Given the description of an element on the screen output the (x, y) to click on. 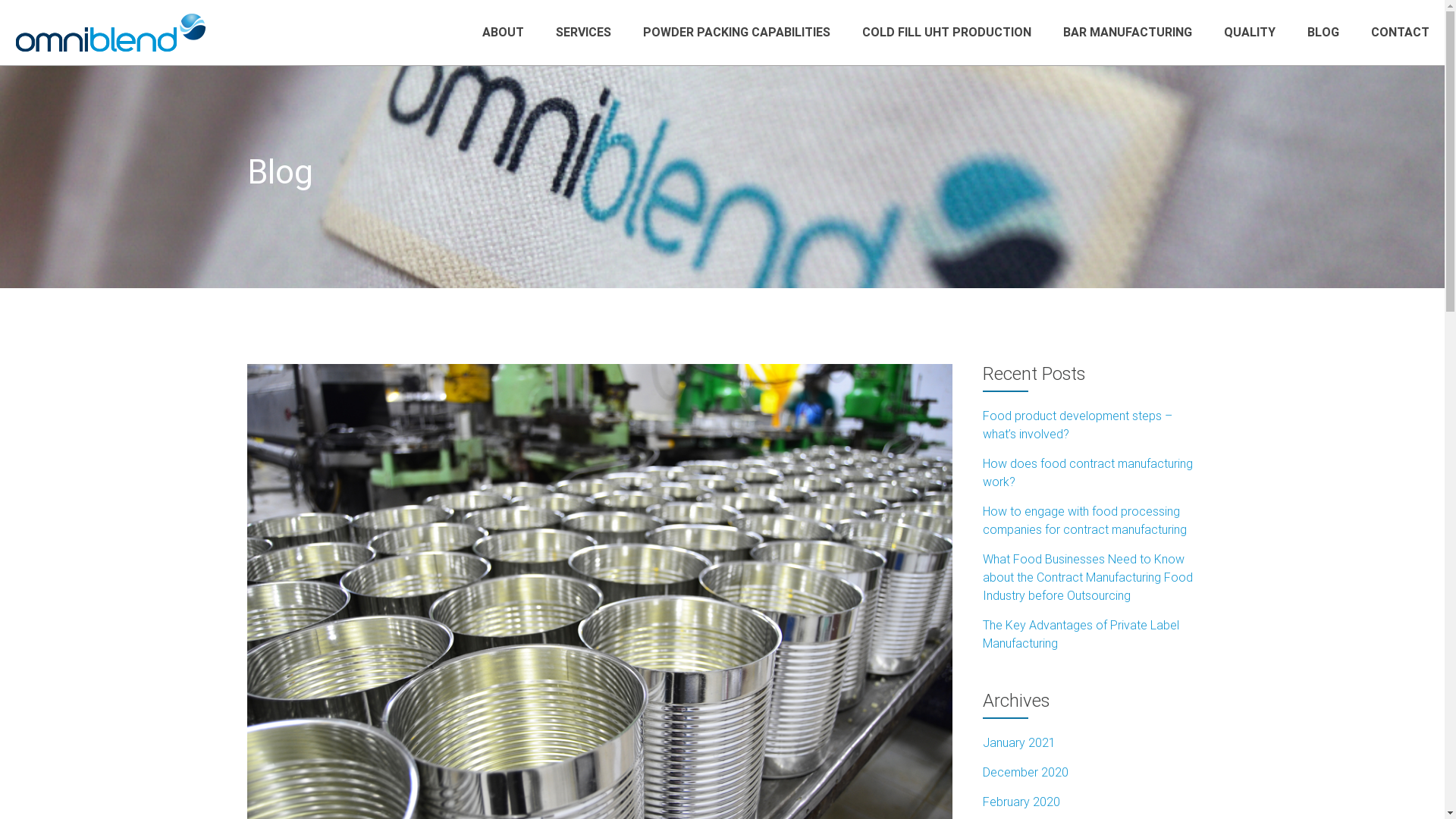
January 2021 Element type: text (1018, 742)
CONTACT Element type: text (1400, 32)
QUALITY Element type: text (1249, 32)
SERVICES Element type: text (583, 32)
How does food contract manufacturing work? Element type: text (1087, 472)
BAR MANUFACTURING Element type: text (1127, 32)
COLD FILL UHT PRODUCTION Element type: text (946, 32)
POWDER PACKING CAPABILITIES Element type: text (736, 32)
ABOUT Element type: text (503, 32)
BLOG Element type: text (1323, 32)
February 2020 Element type: text (1021, 801)
The Key Advantages of Private Label Manufacturing Element type: text (1080, 634)
December 2020 Element type: text (1025, 772)
